Given the description of an element on the screen output the (x, y) to click on. 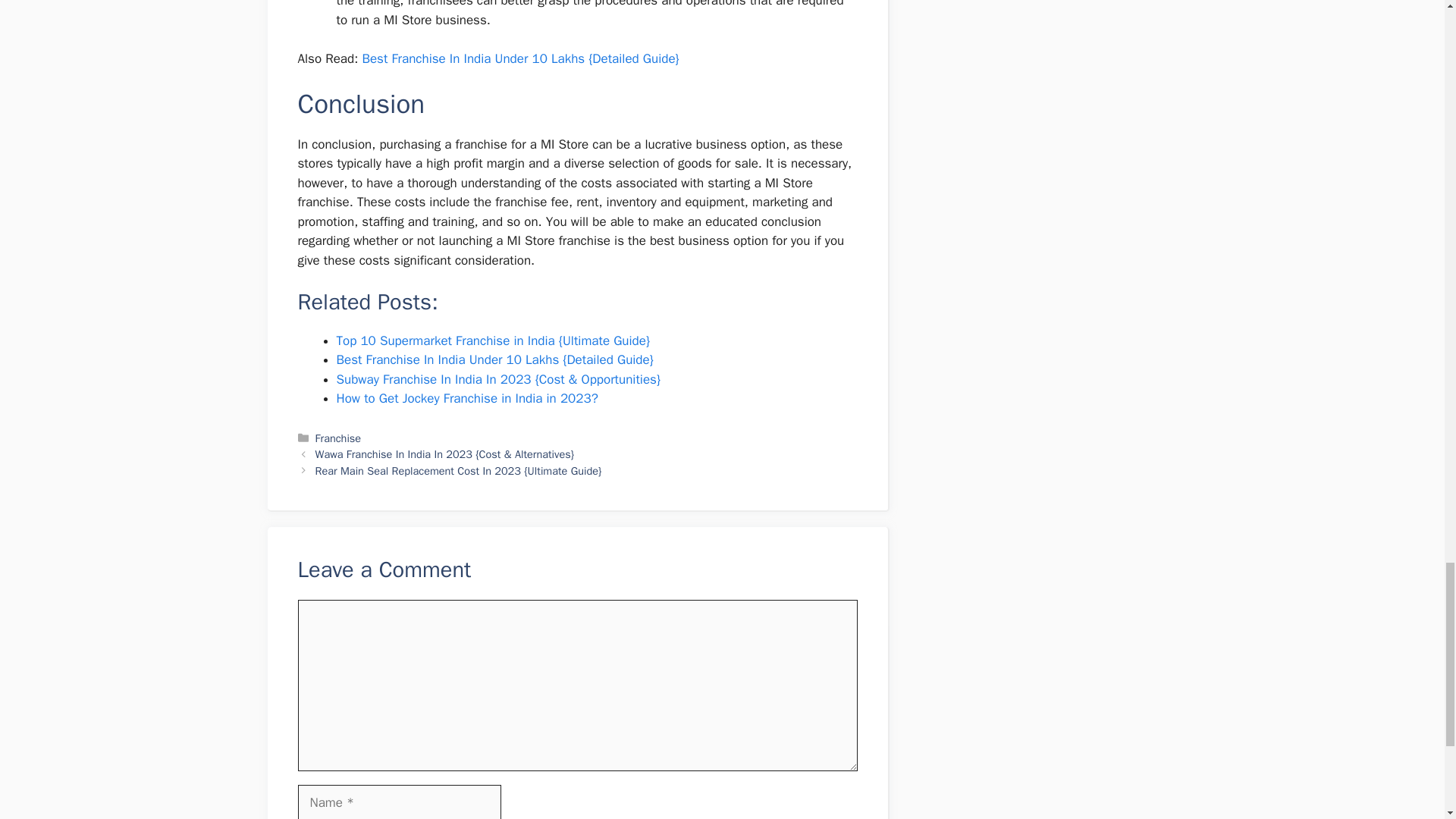
How to Get Jockey Franchise in India in 2023? (467, 398)
Franchise (338, 438)
